Given the description of an element on the screen output the (x, y) to click on. 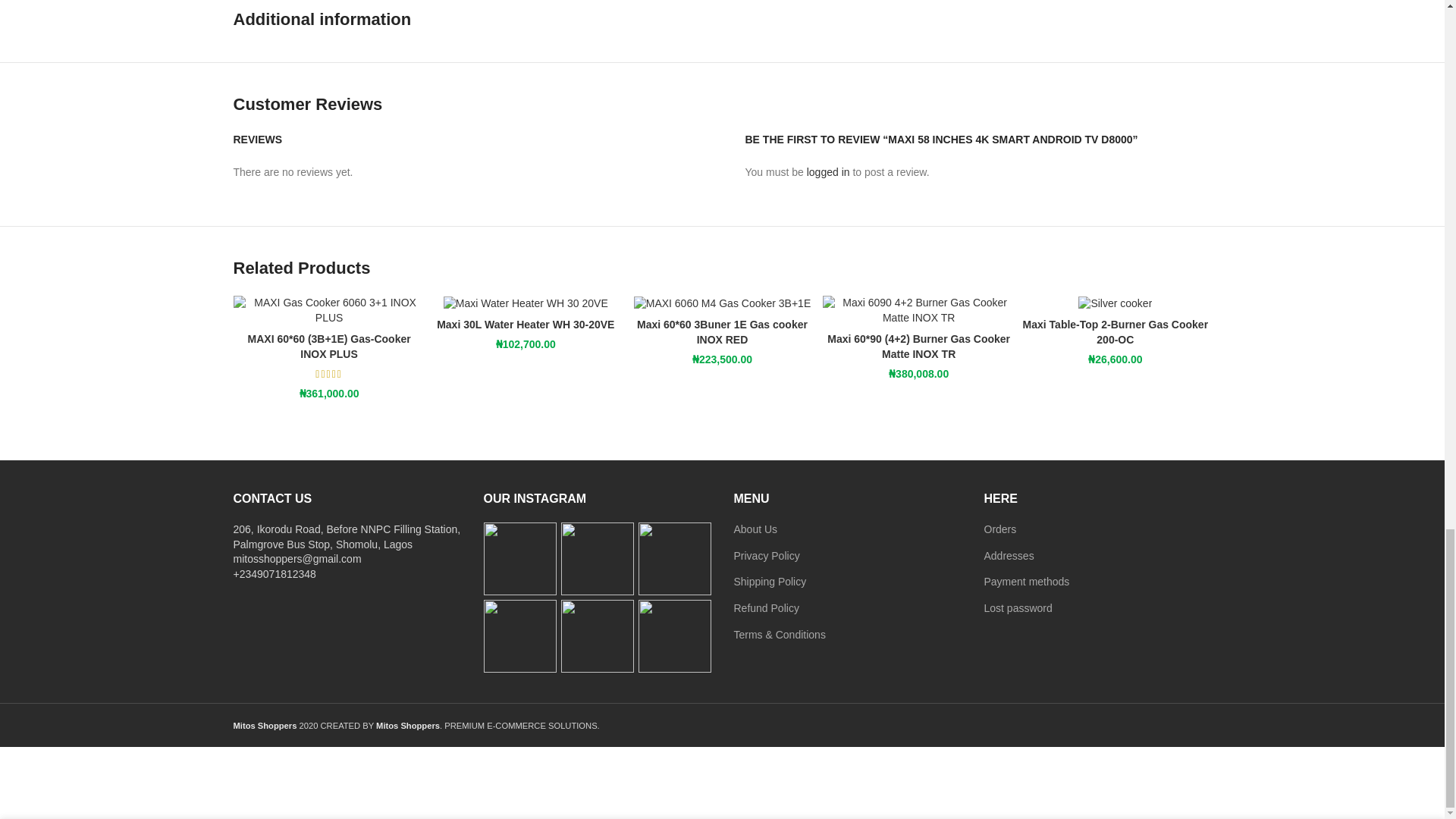
Maxi Water Heater WH 3020VE 1 Mitos Shoppers (526, 303)
d41e6540193dc30317de0f62739aa12a3ba35c8e Mitos Shoppers (1114, 303)
3436997136 1 Mitos Shoppers (721, 303)
ezgifcomgifmaker 20210810T083029951 Mitos Shoppers (1311, 310)
